Given the description of an element on the screen output the (x, y) to click on. 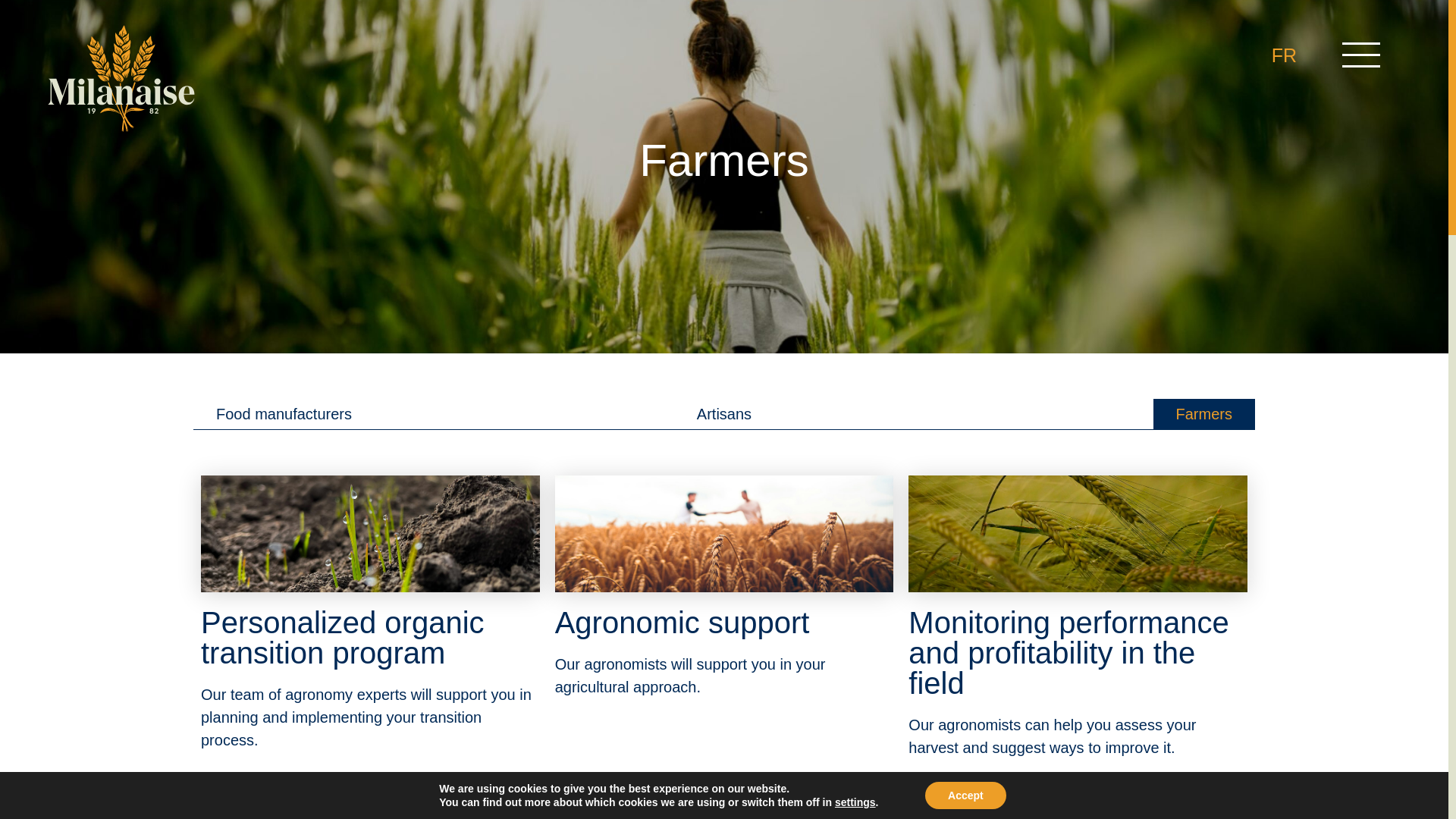
FR (1283, 54)
FR (1283, 54)
Food manufacturers (283, 413)
Farmers (1204, 413)
settings (855, 802)
Accept (965, 795)
Artisans (724, 413)
